Given the description of an element on the screen output the (x, y) to click on. 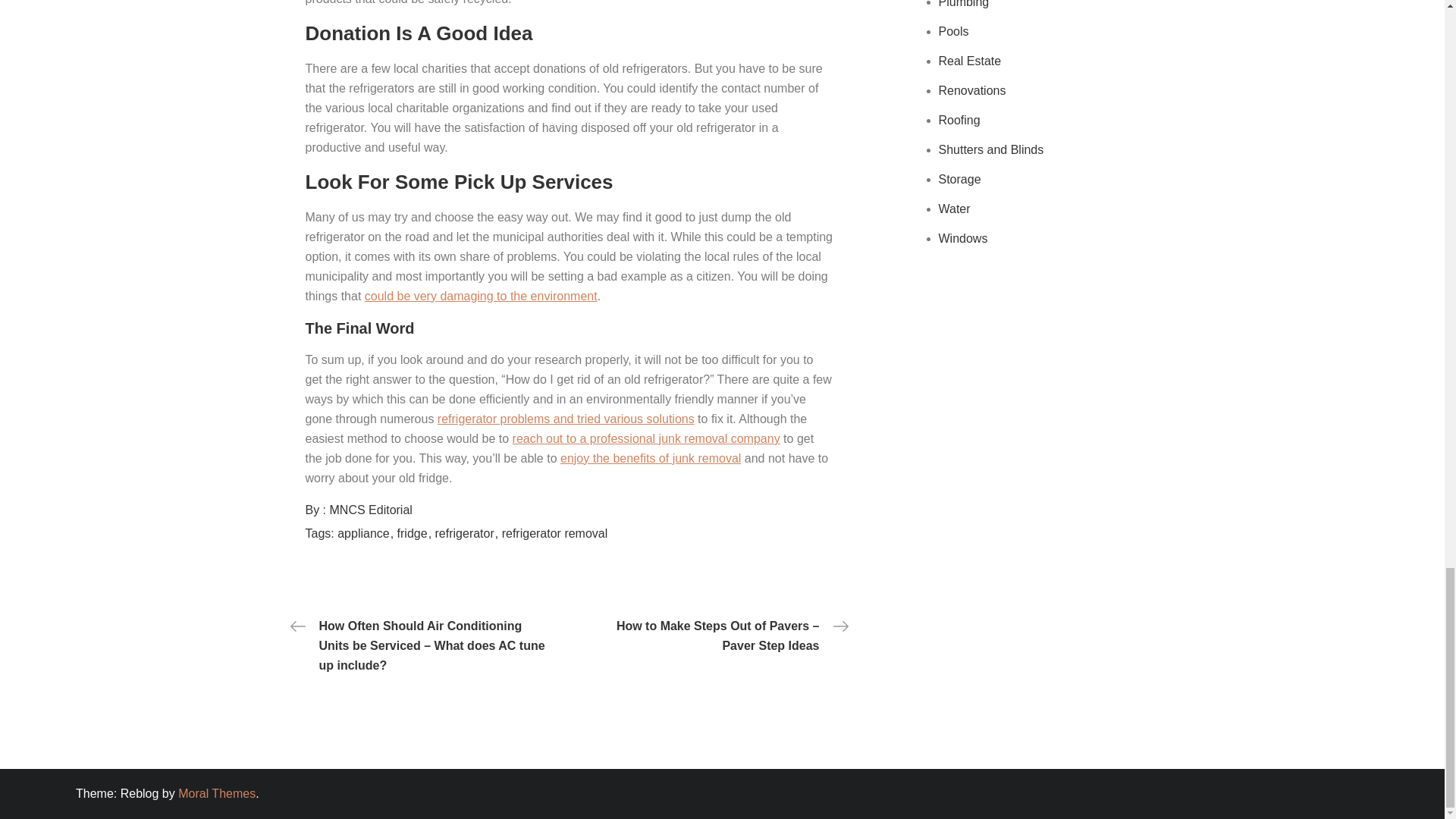
reach out to a professional junk removal company (646, 438)
MNCS Editorial (371, 509)
refrigerator (467, 533)
enjoy the benefits of junk removal (650, 458)
refrigerator problems and tried various solutions (566, 418)
appliance (365, 533)
fridge (413, 533)
refrigerator removal (555, 533)
could be very damaging to the environment (480, 295)
